Given the description of an element on the screen output the (x, y) to click on. 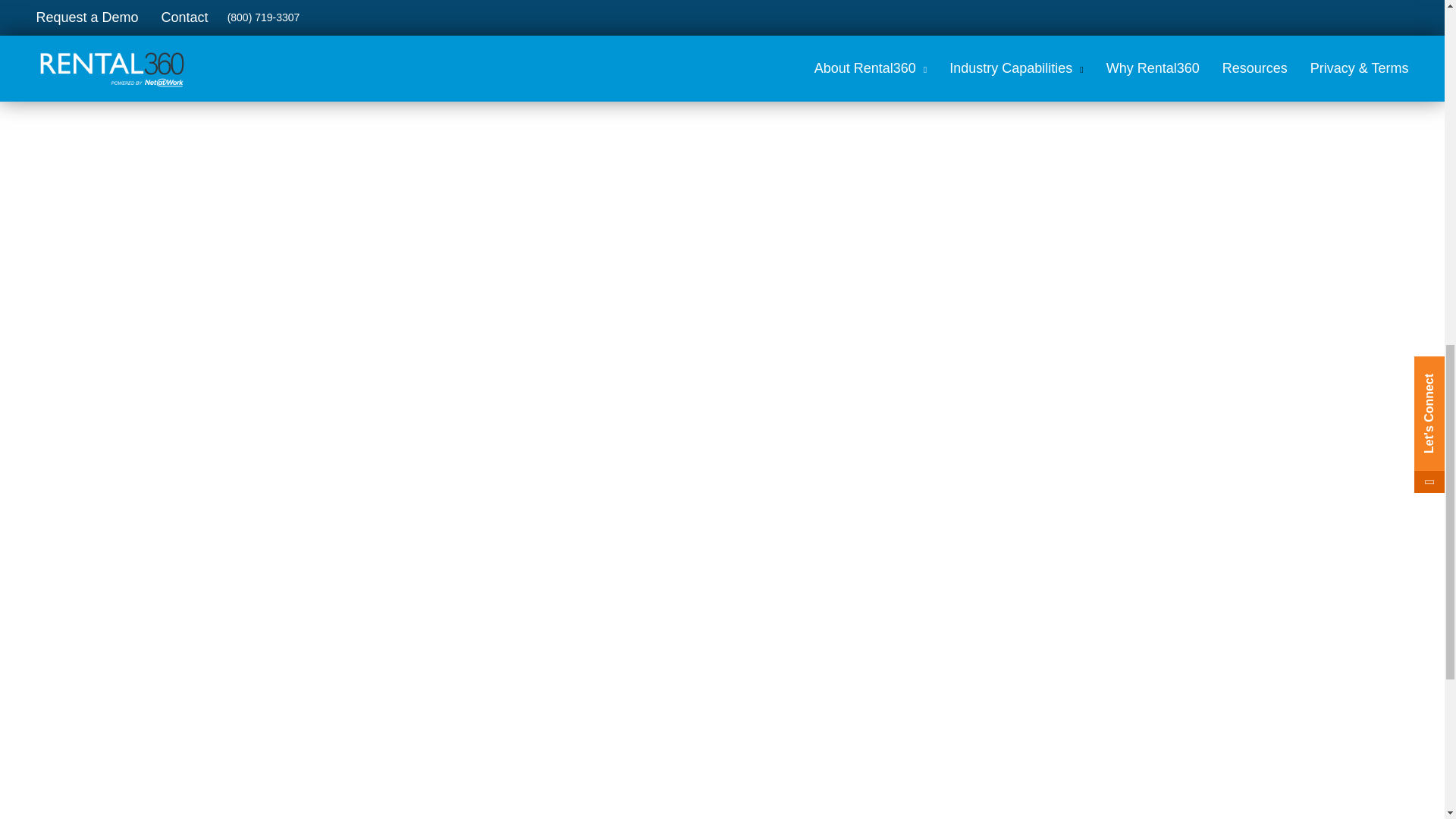
YouTube video player (507, 153)
